Given the description of an element on the screen output the (x, y) to click on. 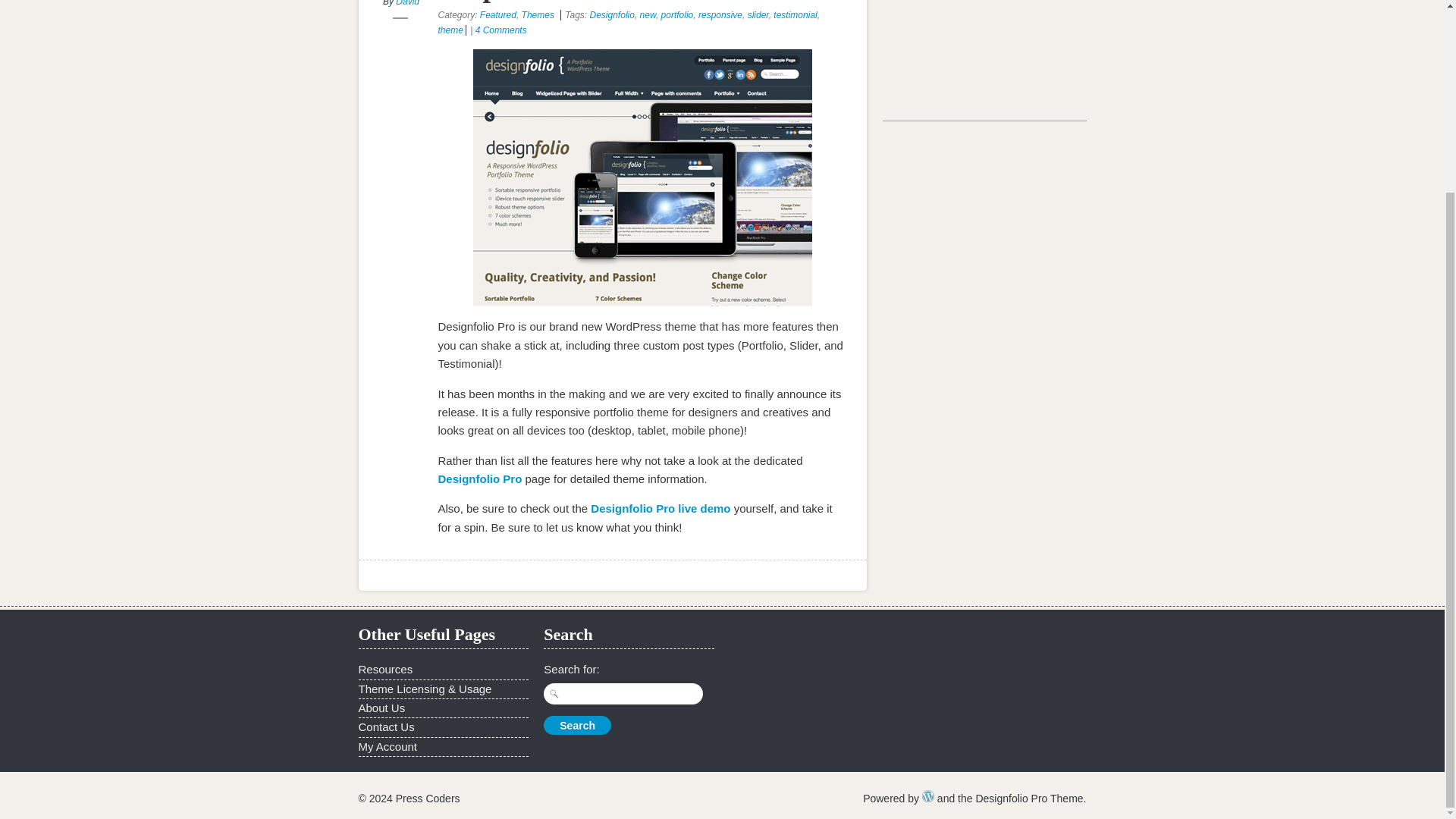
Press Coders (428, 798)
Designfolio Pro (480, 478)
Featured (498, 14)
Search (577, 724)
new (648, 14)
Designfolio WordPress Theme (642, 177)
portfolio (677, 14)
4 Comments (501, 30)
Designfolio Pro (480, 478)
Designfolio Pro Theme (1029, 798)
WordPress (927, 796)
Resources (385, 668)
theme (450, 30)
David (407, 3)
testimonial (794, 14)
